Given the description of an element on the screen output the (x, y) to click on. 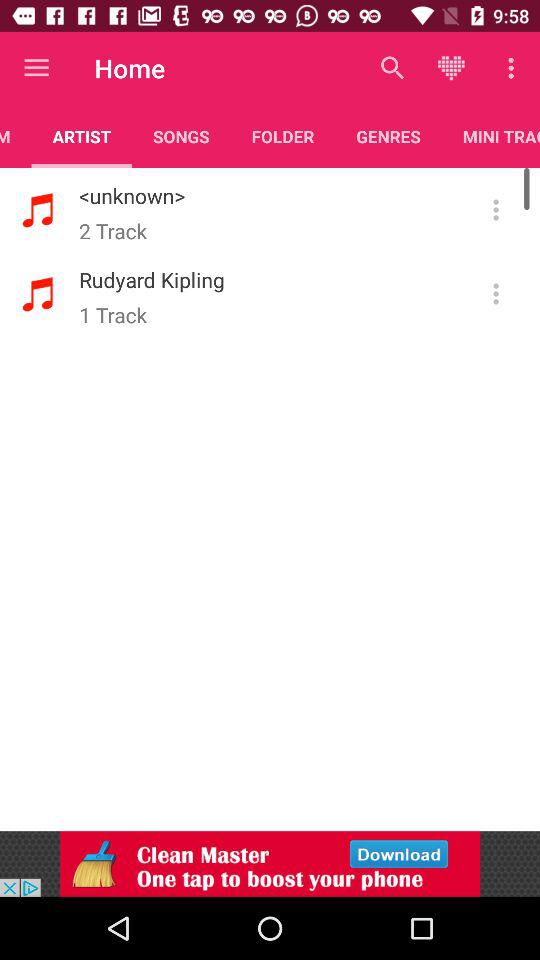
control button (495, 293)
